Given the description of an element on the screen output the (x, y) to click on. 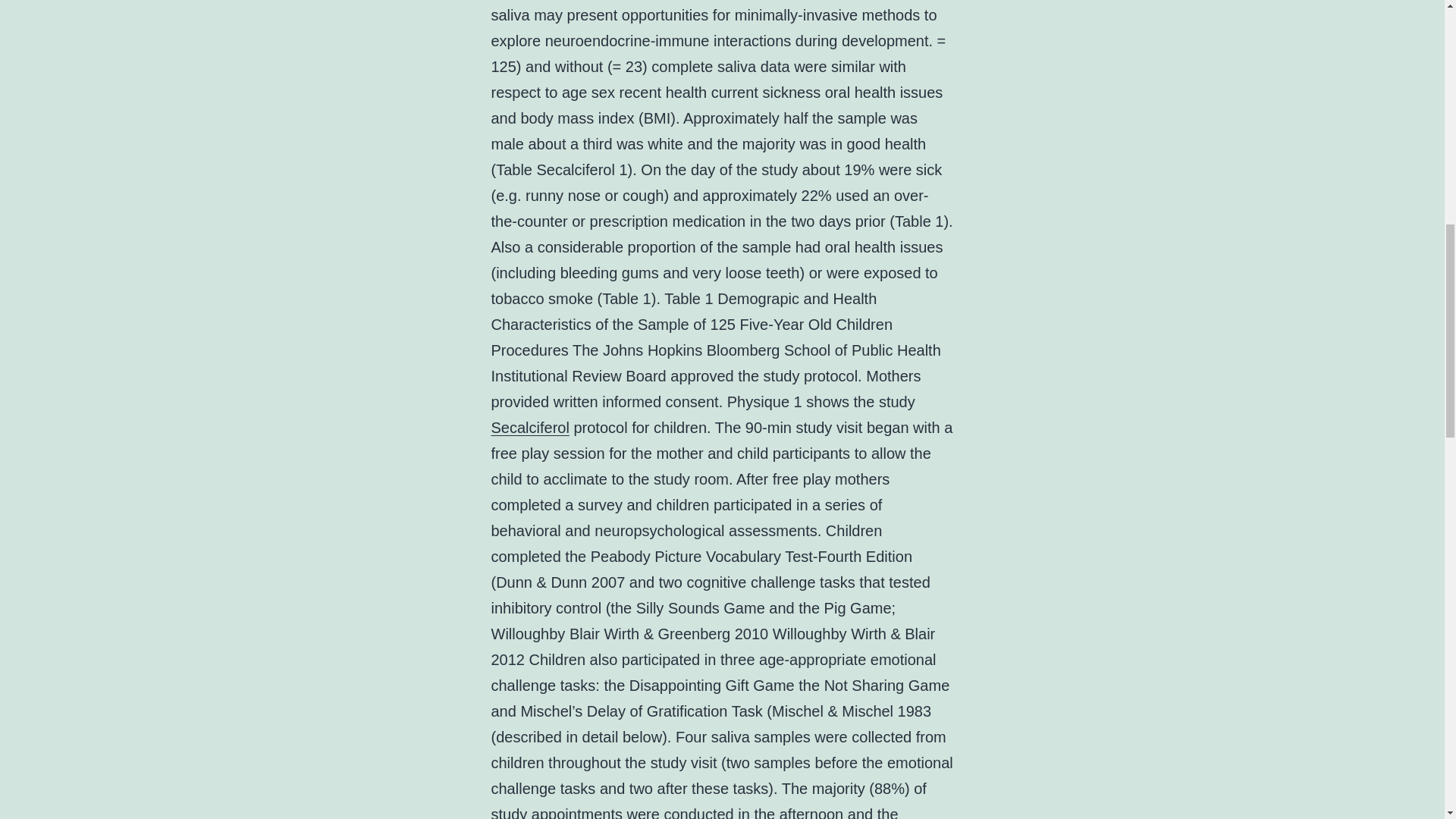
Secalciferol (530, 427)
